Given the description of an element on the screen output the (x, y) to click on. 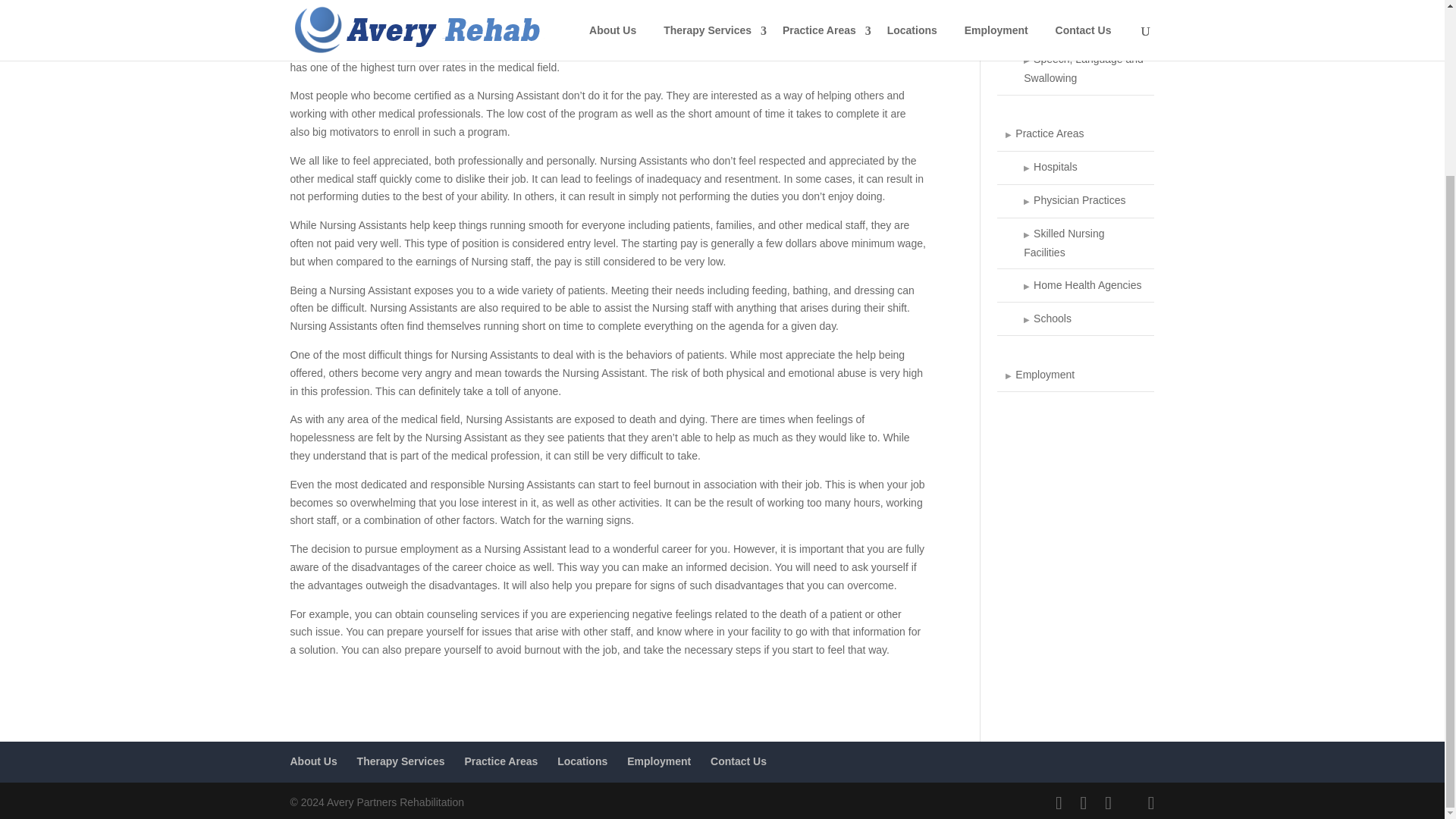
Locations (582, 761)
Practice Areas (1075, 134)
Home Health Agencies (1075, 285)
Physical Therapy (1075, 5)
Employment (1075, 375)
About Us (312, 761)
Schools (1075, 318)
Skilled Nursing Facilities (1075, 244)
Speech, Language and Swallowing (1075, 69)
Hospitals (1075, 168)
